Given the description of an element on the screen output the (x, y) to click on. 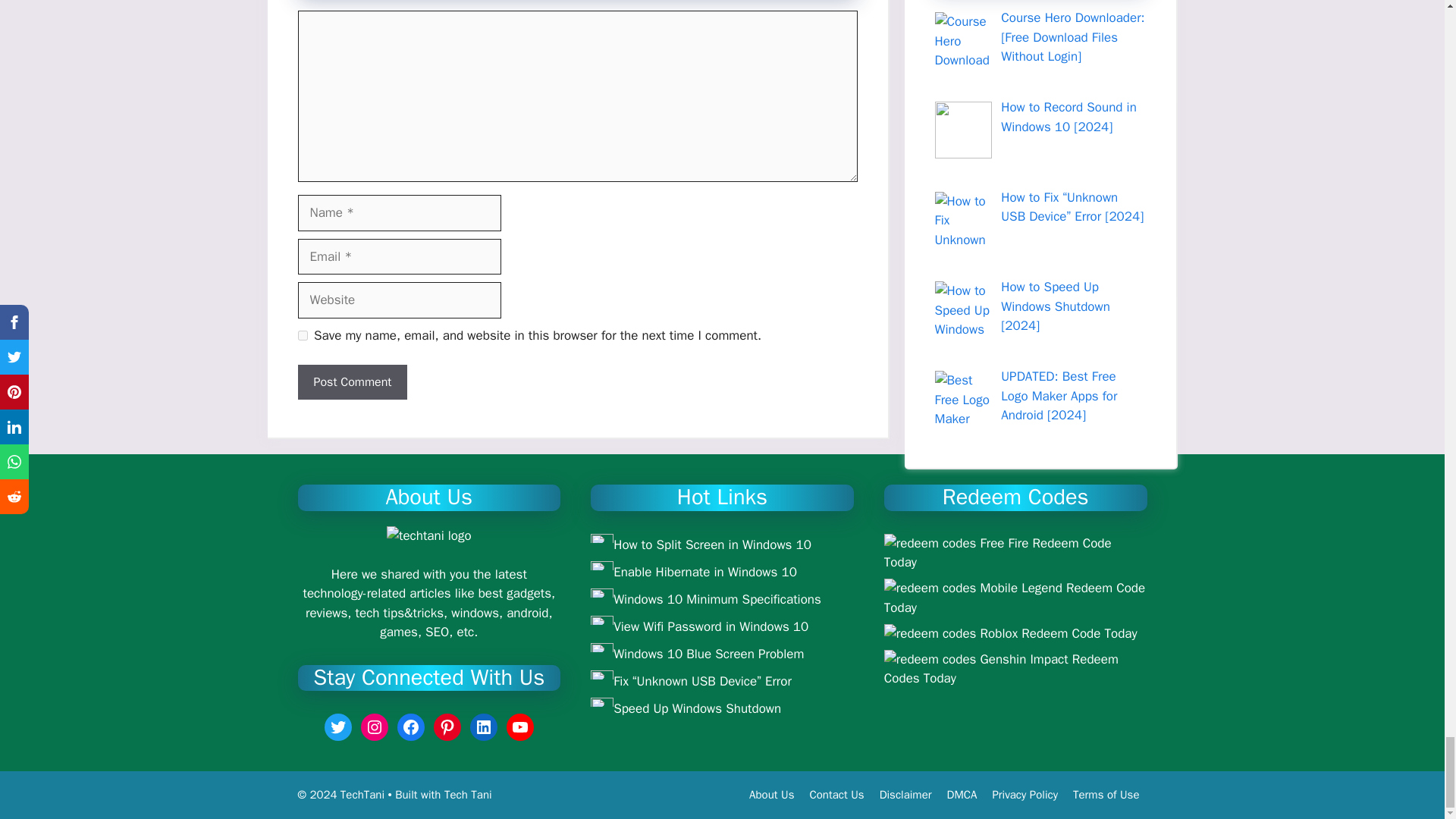
Post Comment (352, 381)
yes (302, 335)
Post Comment (352, 381)
